Given the description of an element on the screen output the (x, y) to click on. 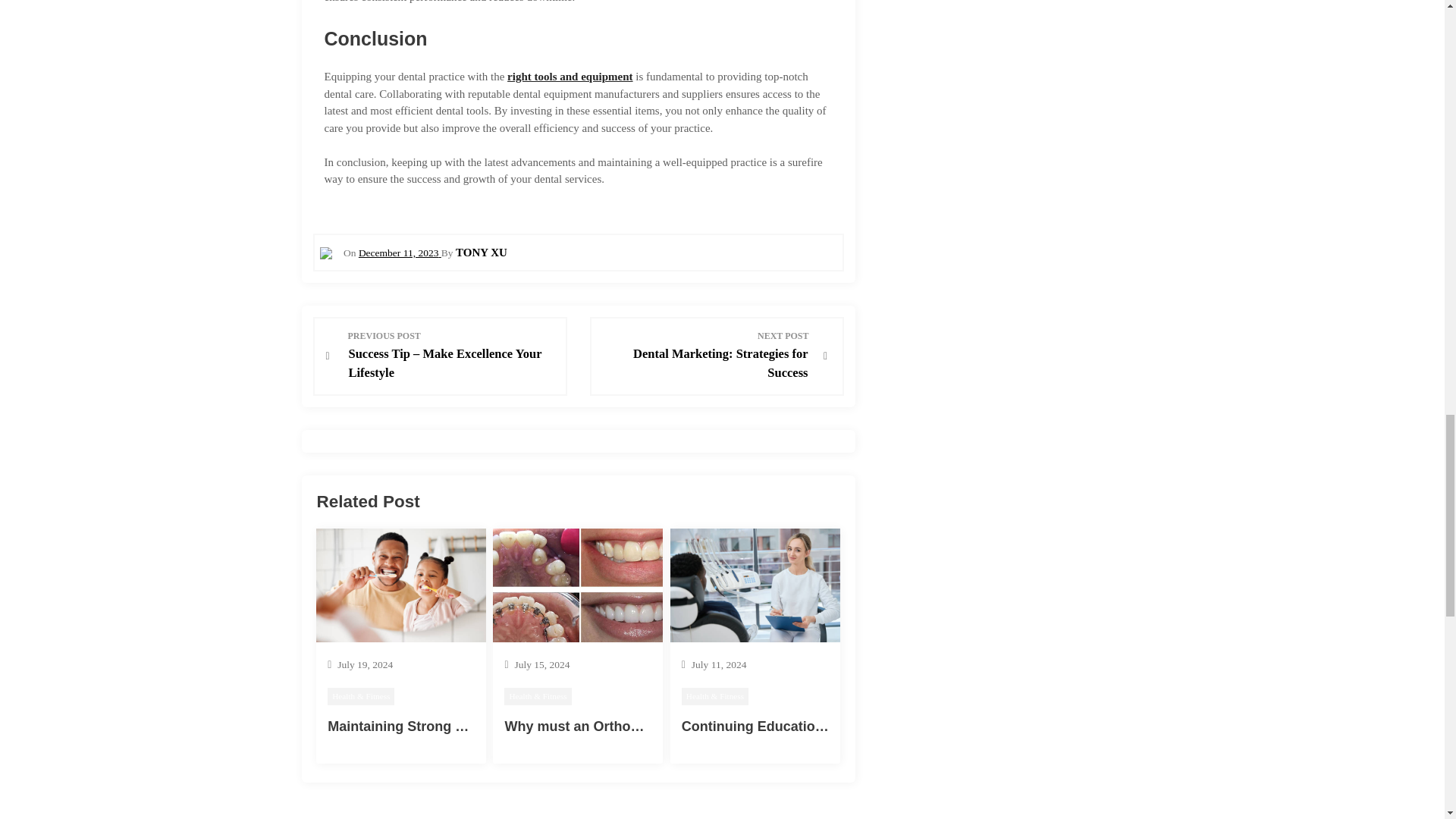
right tools and equipment (568, 76)
Maintaining Strong Teeth: Tips for Cavity Prevention (496, 726)
Why must an Orthodontist be consulted for Tooth Aligning (693, 726)
December 11, 2023 (399, 252)
TONY XU (480, 252)
